Given the description of an element on the screen output the (x, y) to click on. 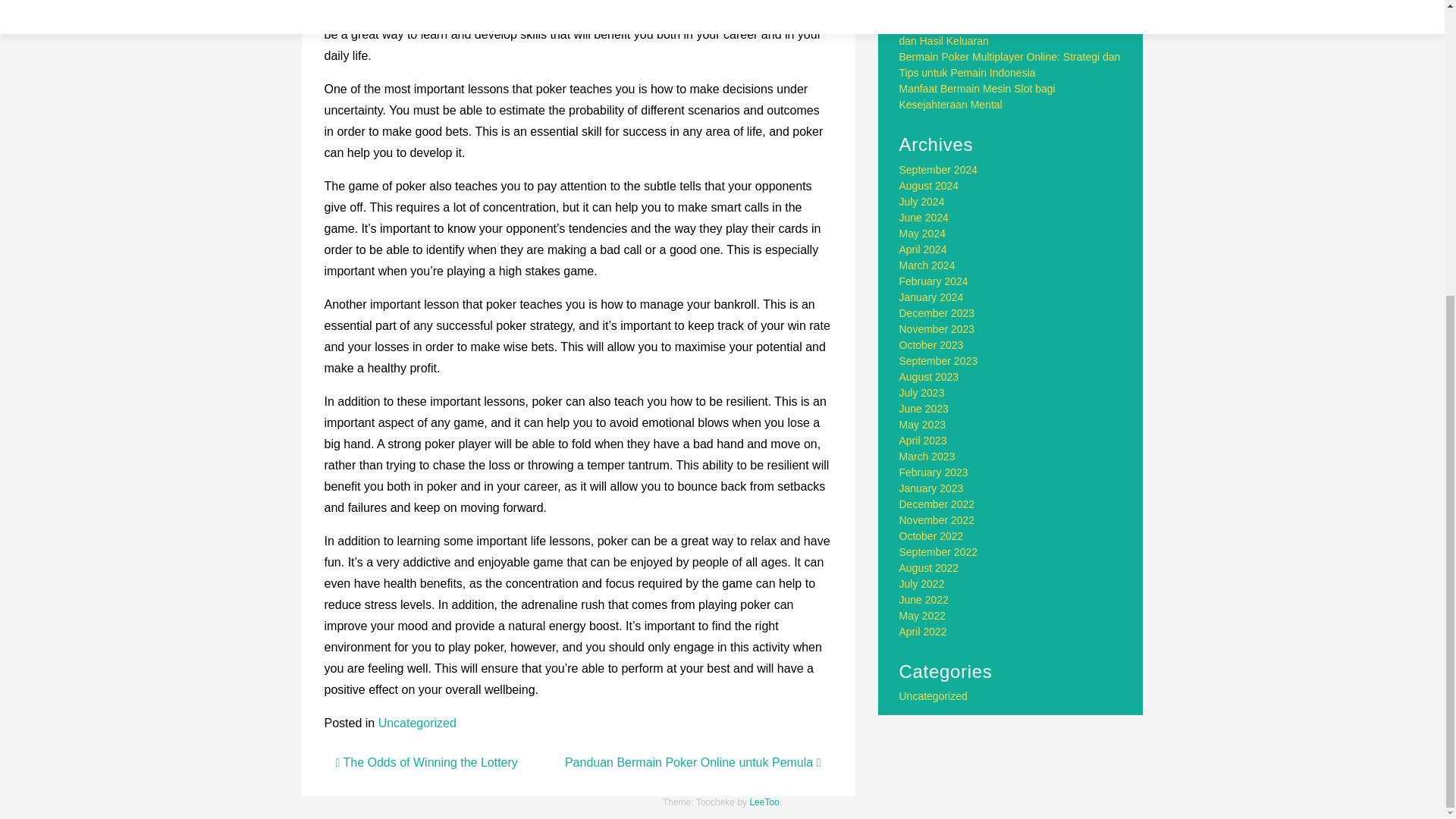
April 2024 (923, 249)
Uncategorized (417, 722)
Panduan Bermain Poker Online untuk Pemula  (692, 762)
December 2023 (937, 313)
January 2024 (931, 297)
July 2023 (921, 392)
January 2023 (931, 488)
May 2024 (921, 233)
Daftar Rolet Online: Tips dan Trik untuk Pemula (991, 7)
July 2024 (921, 201)
